Given the description of an element on the screen output the (x, y) to click on. 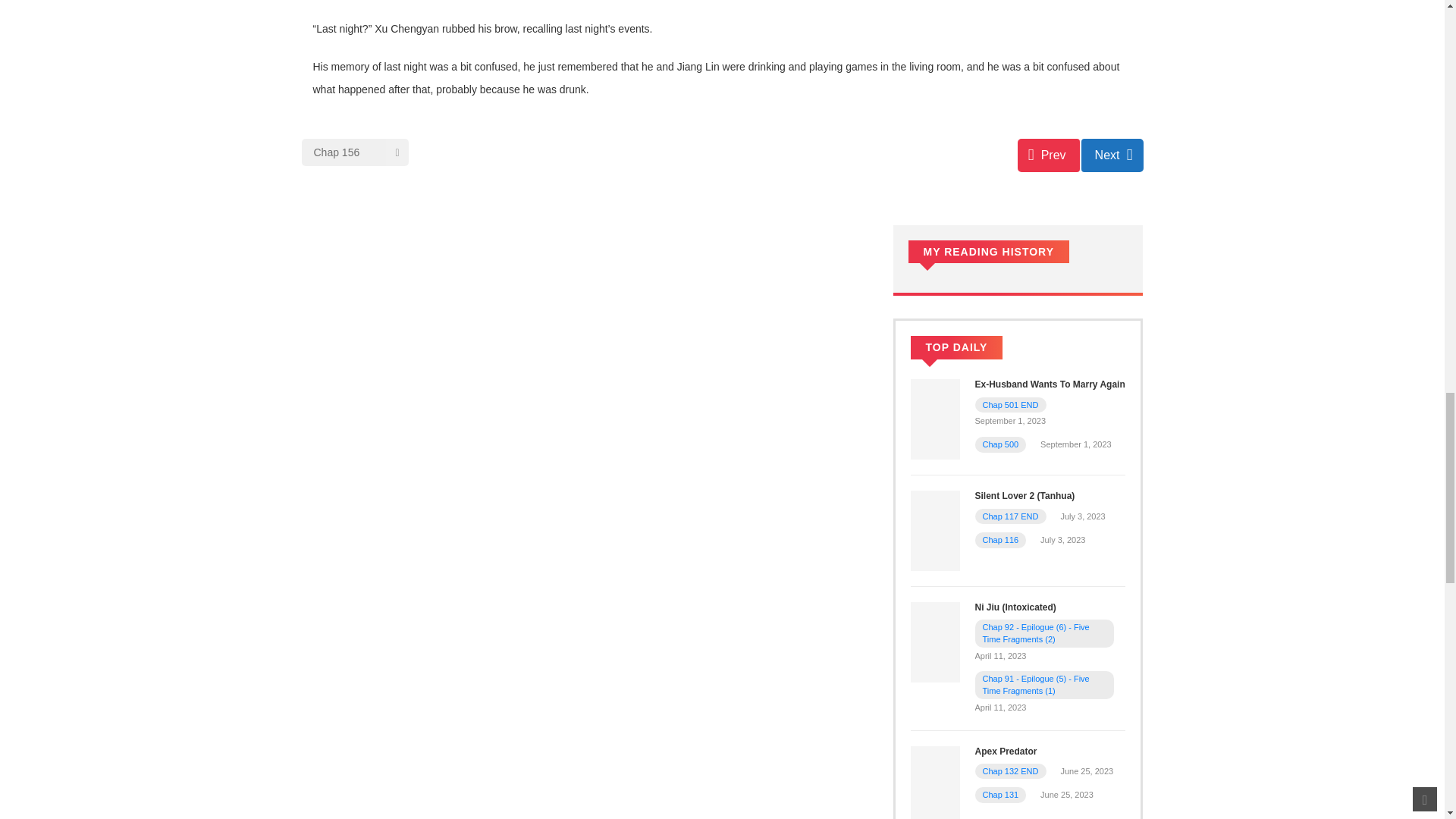
Next (1111, 154)
Chap 500 (1000, 443)
Prev (1048, 154)
Ex-Husband Wants To Marry Again (1050, 384)
Chap 501 END (1010, 404)
Apex Predator (934, 784)
Chap 157 (1111, 154)
Ex-Husband Wants To Marry Again (1050, 384)
Ex-Husband Wants To Marry Again (934, 418)
Chap 116 (1000, 539)
